Given the description of an element on the screen output the (x, y) to click on. 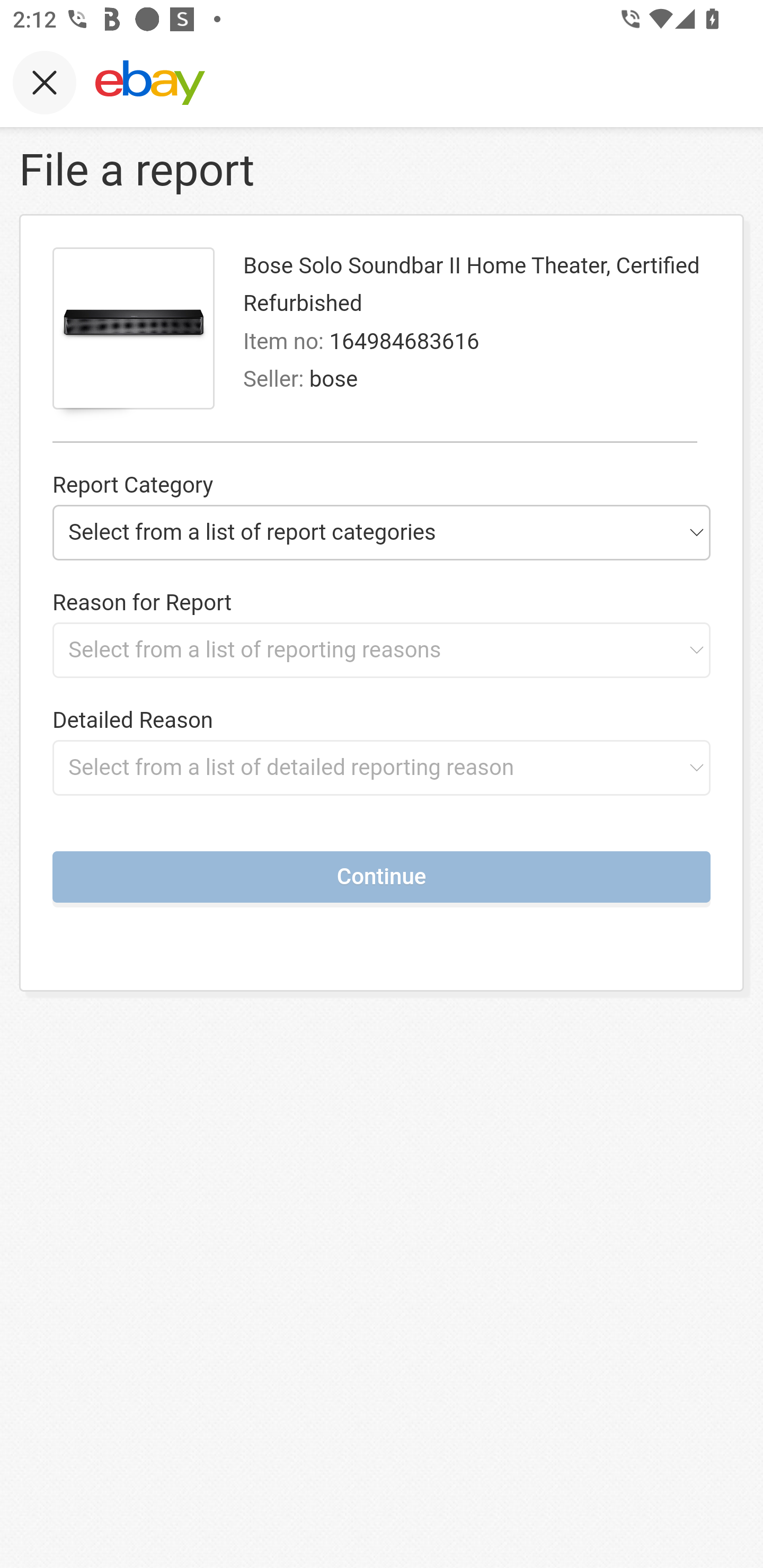
Close (44, 82)
Select from a list of report categories (381, 532)
Select from a list of reporting reasons (381, 649)
Select from a list of detailed reporting reason (381, 767)
Continue (381, 876)
